Given the description of an element on the screen output the (x, y) to click on. 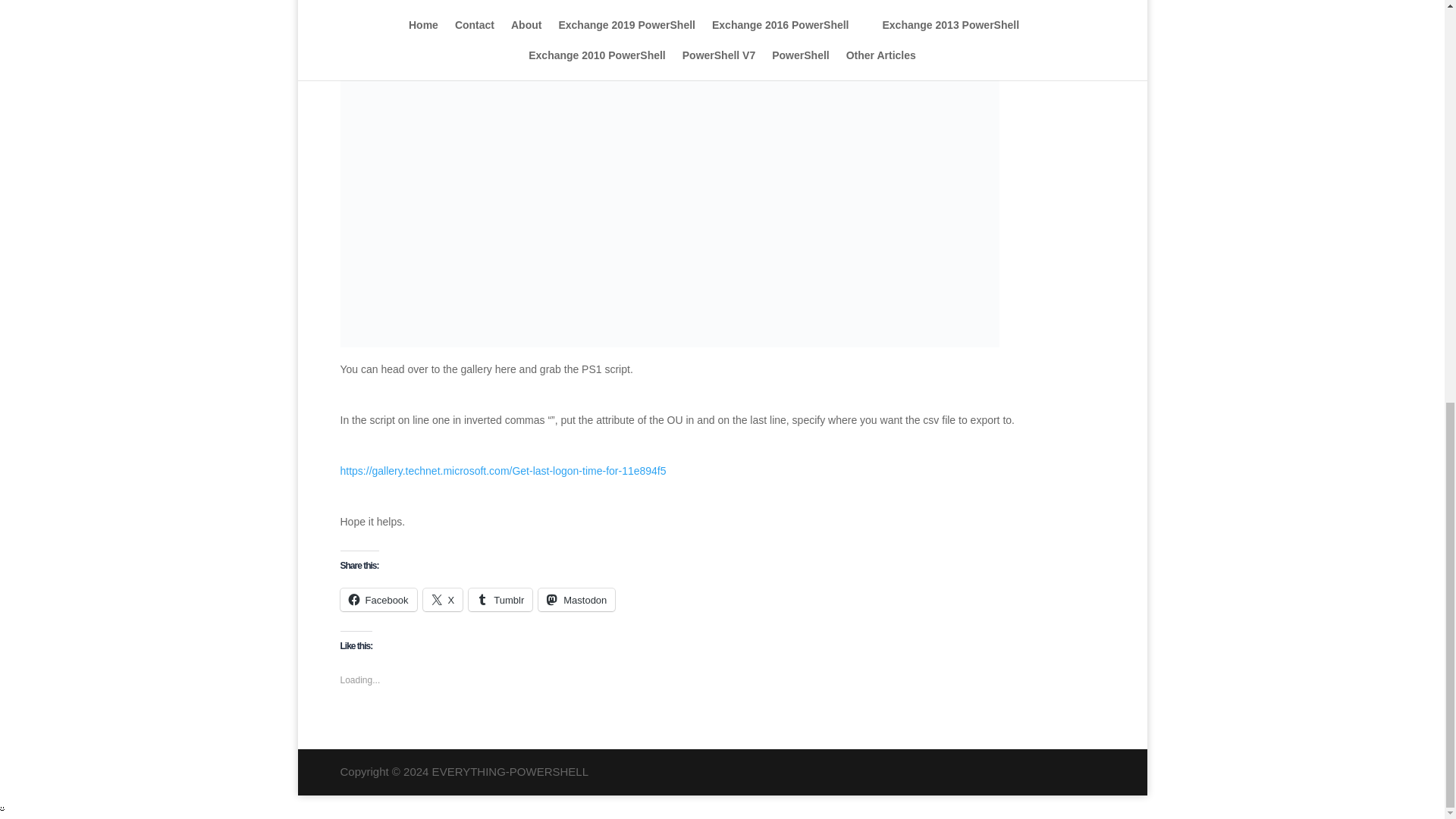
Mastodon (576, 599)
Click to share on Tumblr (500, 599)
Facebook (377, 599)
Click to share on Mastodon (576, 599)
Click to share on X (443, 599)
X (443, 599)
Tumblr (500, 599)
Click to share on Facebook (377, 599)
